Given the description of an element on the screen output the (x, y) to click on. 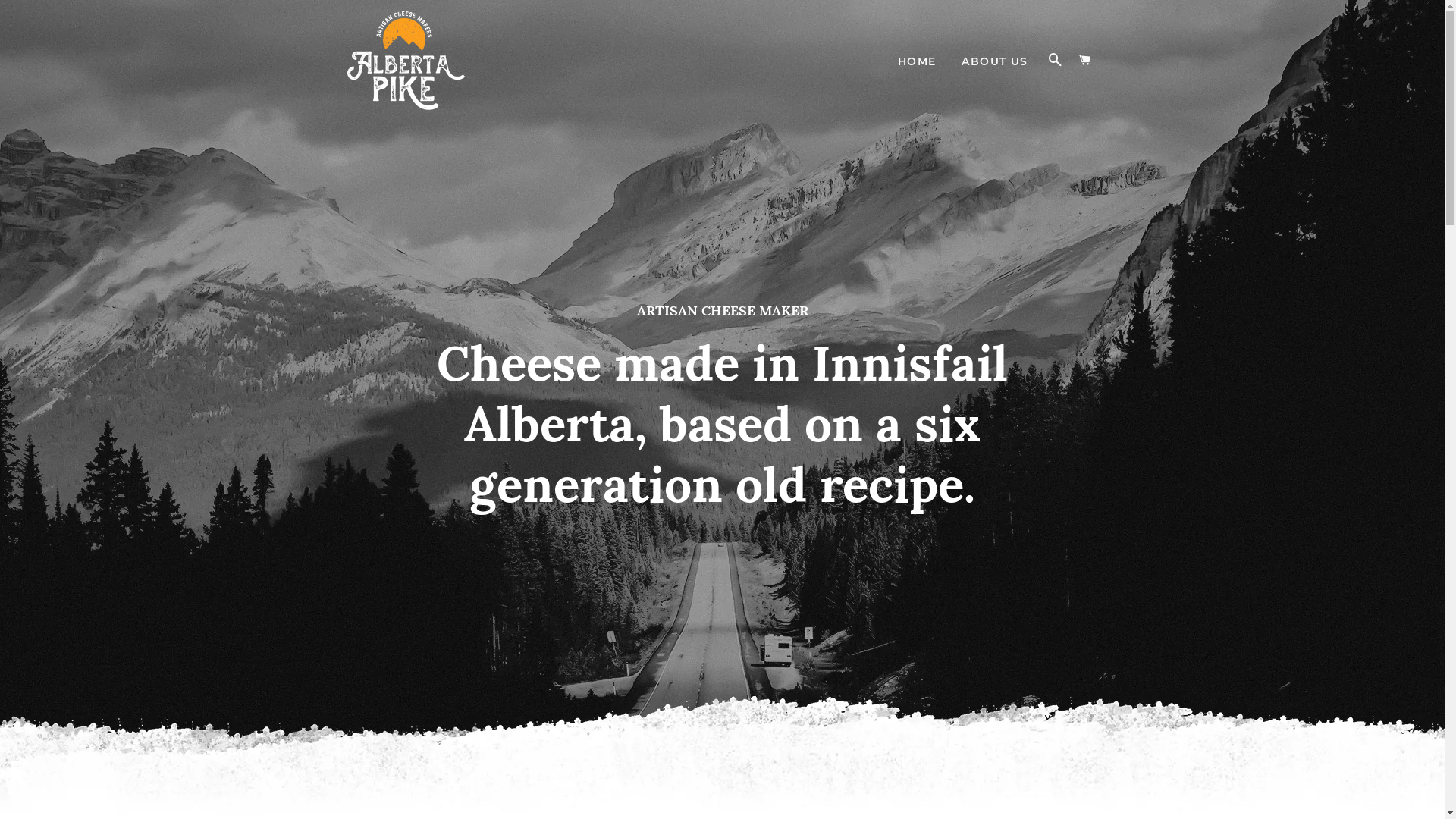
ABOUT US Element type: text (994, 61)
CART Element type: text (1084, 60)
SEARCH Element type: text (1055, 60)
HOME Element type: text (916, 61)
